Given the description of an element on the screen output the (x, y) to click on. 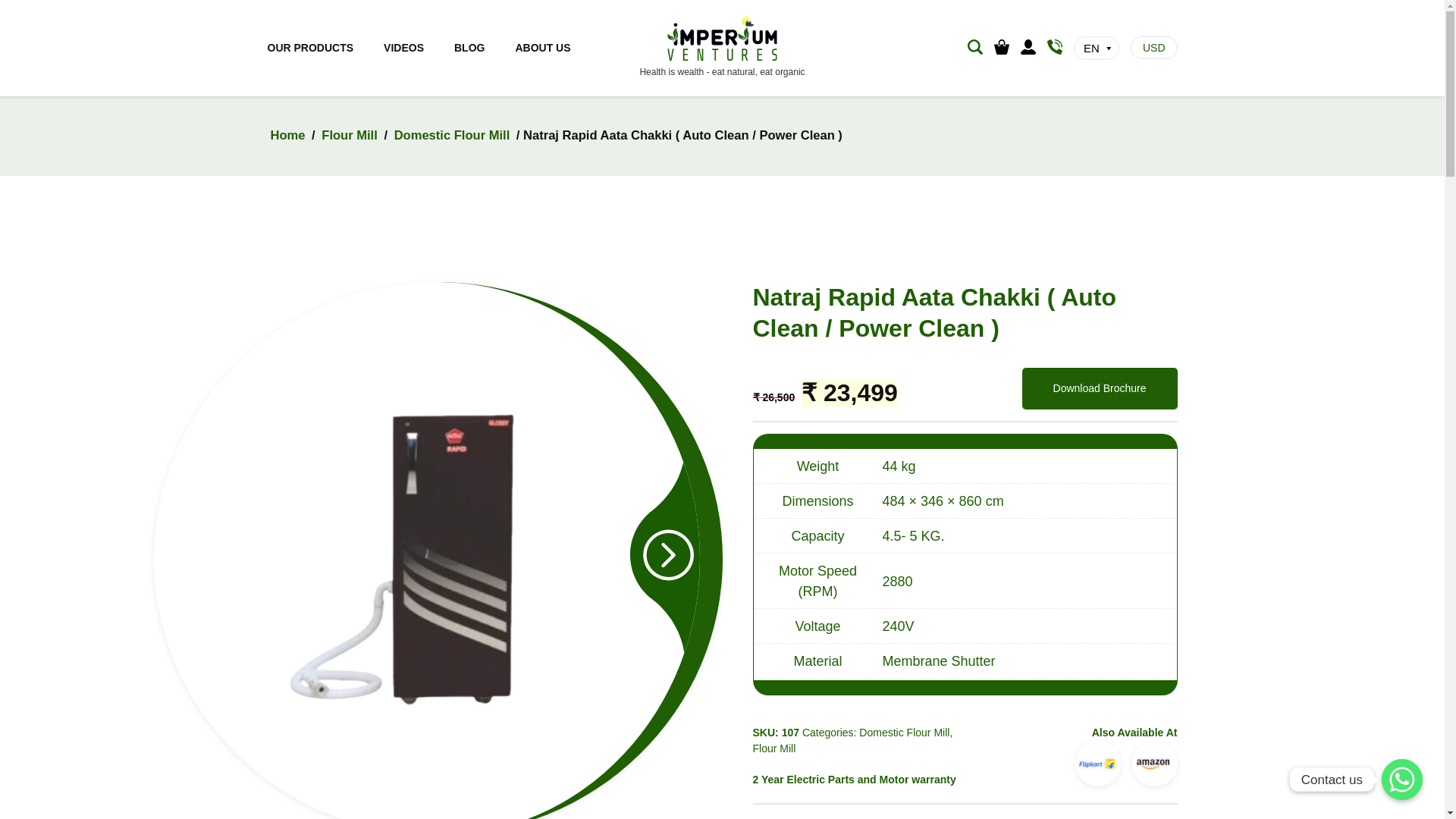
OUR PRODUCTS (309, 47)
